Given the description of an element on the screen output the (x, y) to click on. 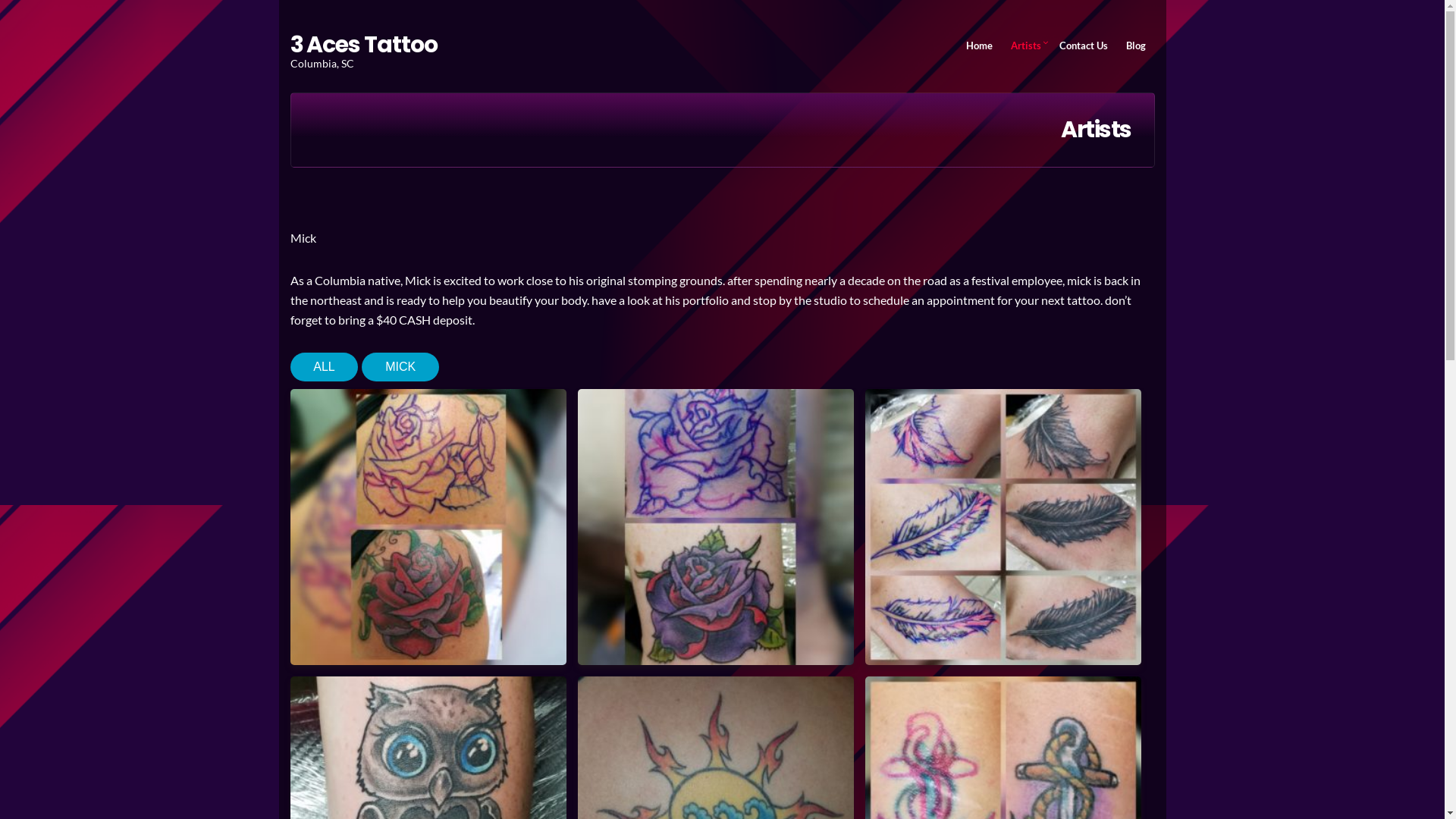
Contact Us Element type: text (1082, 45)
Home Element type: text (979, 45)
IMG_20170625_111314_068 Element type: hover (1002, 527)
3 Aces Tattoo Element type: text (362, 44)
Blog Element type: text (1135, 45)
IMG_20170609_211150_762 Element type: hover (427, 527)
IMG_20170615_222037_687 Element type: hover (715, 527)
ALL Element type: text (323, 366)
MICK Element type: text (399, 366)
Artists Element type: text (1025, 45)
